Given the description of an element on the screen output the (x, y) to click on. 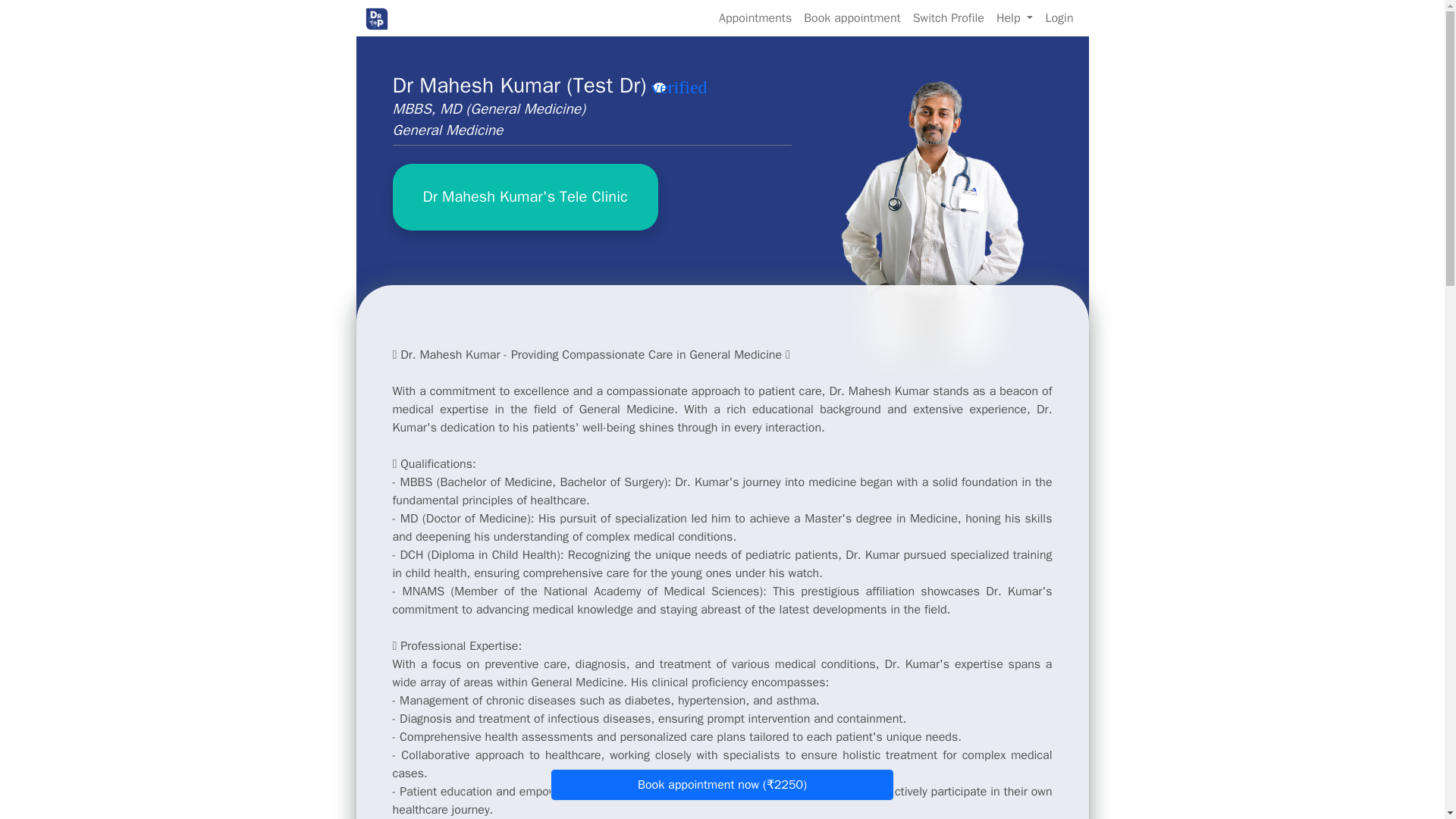
Help (1014, 18)
Book appointment (851, 18)
Appointments (755, 18)
Switch Profile (948, 18)
Login (1059, 18)
